Given the description of an element on the screen output the (x, y) to click on. 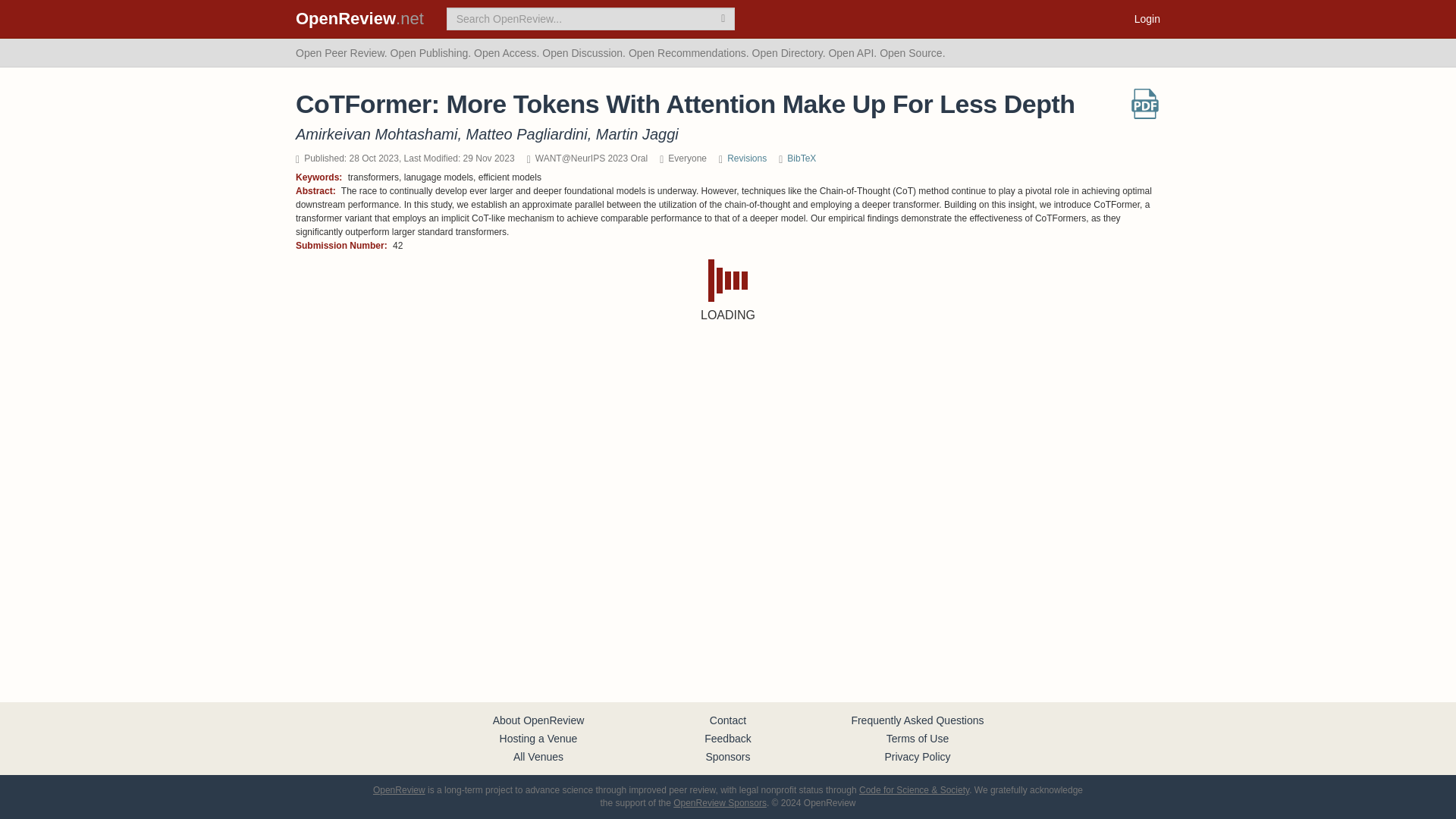
Amirkeivan Mohtashami (376, 134)
OpenReview.net (359, 18)
Frequently Asked Questions (917, 720)
All Venues (538, 756)
Martin Jaggi (636, 134)
Contact (727, 720)
About OpenReview (539, 720)
Matteo Pagliardini (526, 134)
Hosting a Venue (538, 738)
Login (1147, 18)
